Given the description of an element on the screen output the (x, y) to click on. 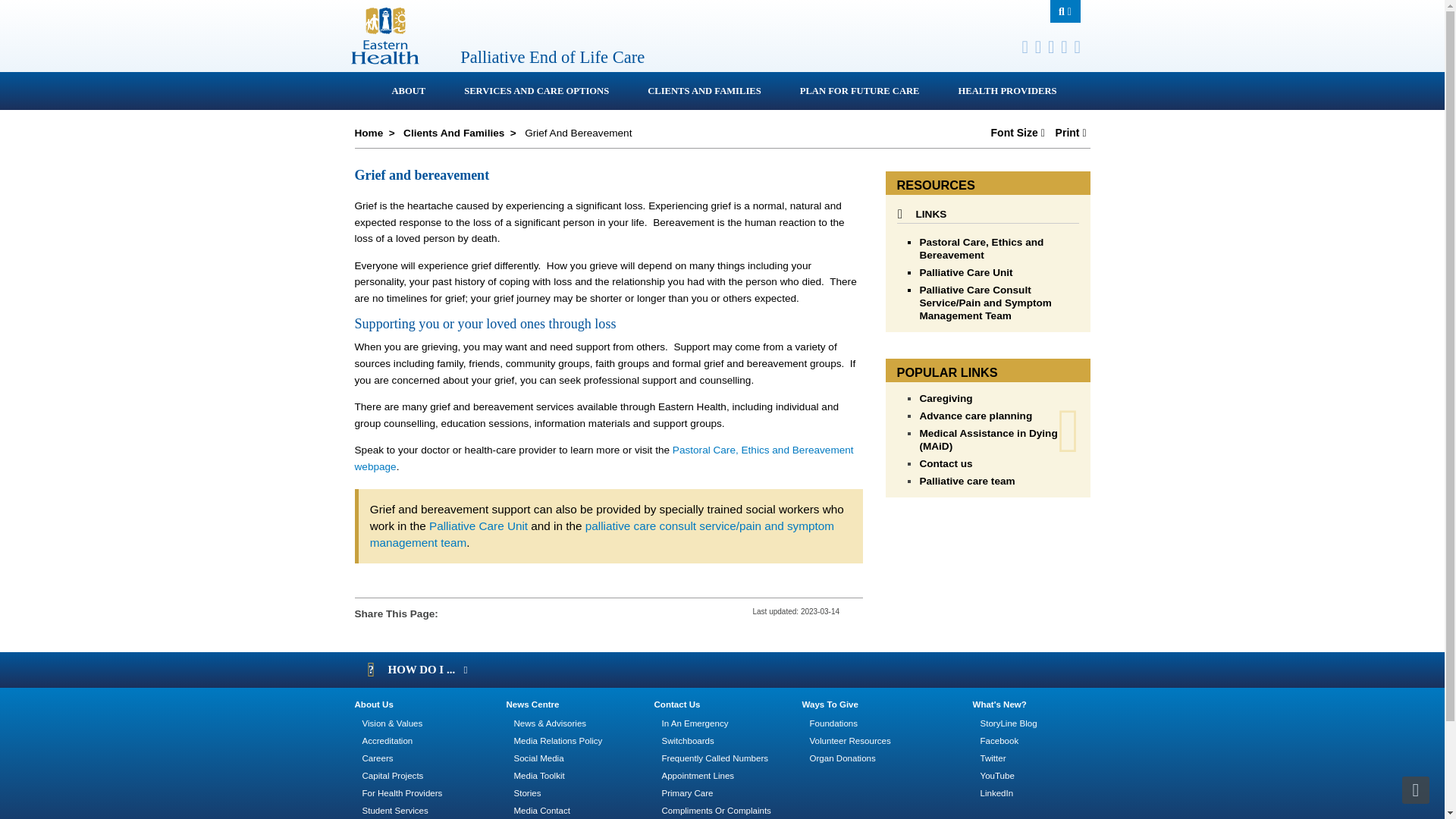
Eastern Health Logo (384, 59)
Go to Palliative End of Life Care. (369, 132)
SERVICES AND CARE OPTIONS (534, 90)
Search Eastern Health (1064, 11)
PLAN FOR FUTURE CARE (857, 90)
CLIENTS AND FAMILIES (702, 90)
Go to Clients and families. (453, 132)
ABOUT (405, 90)
